Given the description of an element on the screen output the (x, y) to click on. 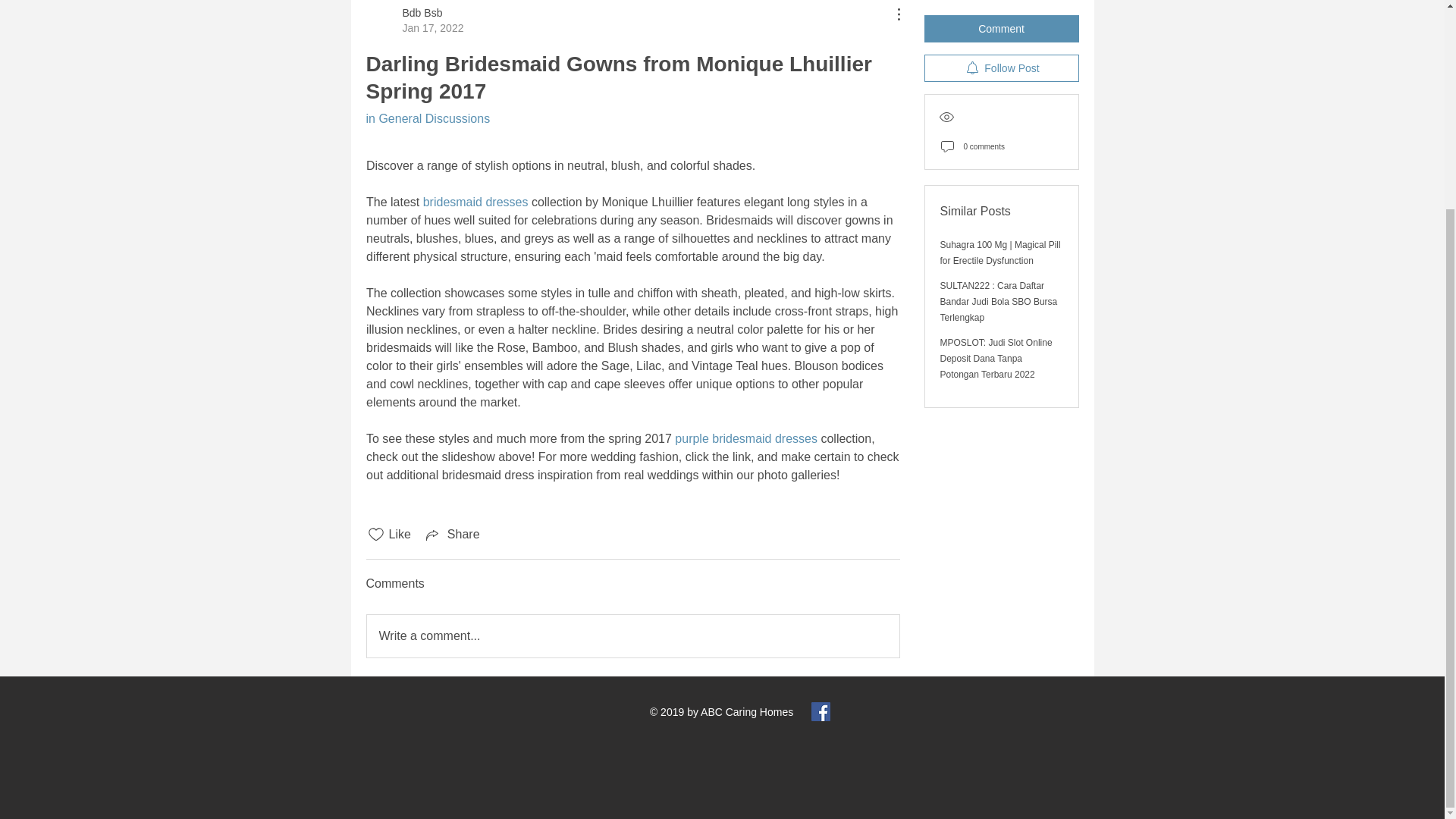
Share (451, 534)
Comment (1000, 18)
Write a comment... (632, 636)
purple bridesmaid dresses (414, 20)
Follow Post (745, 438)
bridesmaid dresses (1000, 58)
in General Discussions (474, 201)
